Given the description of an element on the screen output the (x, y) to click on. 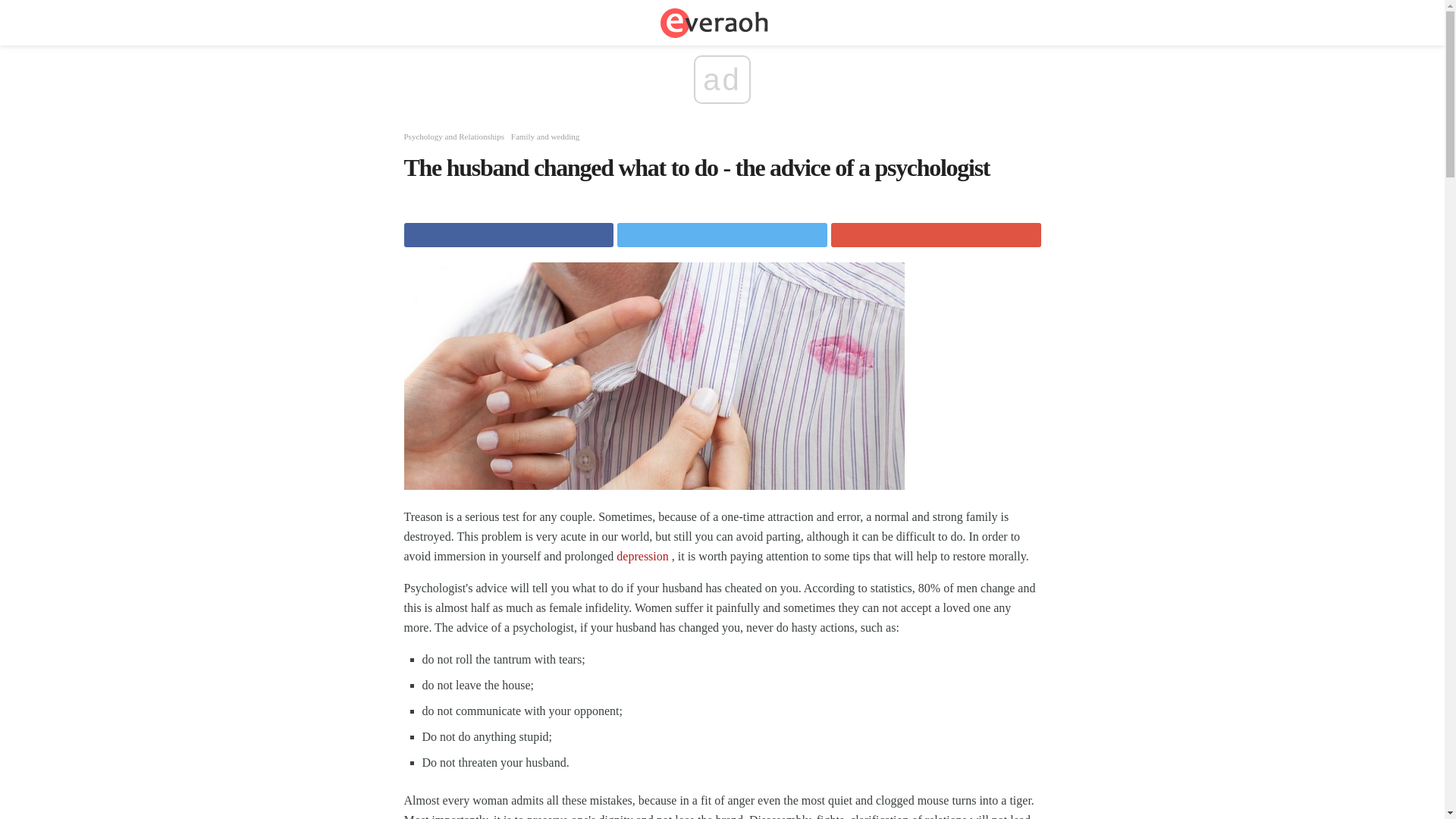
depression (641, 555)
Family and wedding (545, 135)
Psychology and Relationships (453, 135)
